Given the description of an element on the screen output the (x, y) to click on. 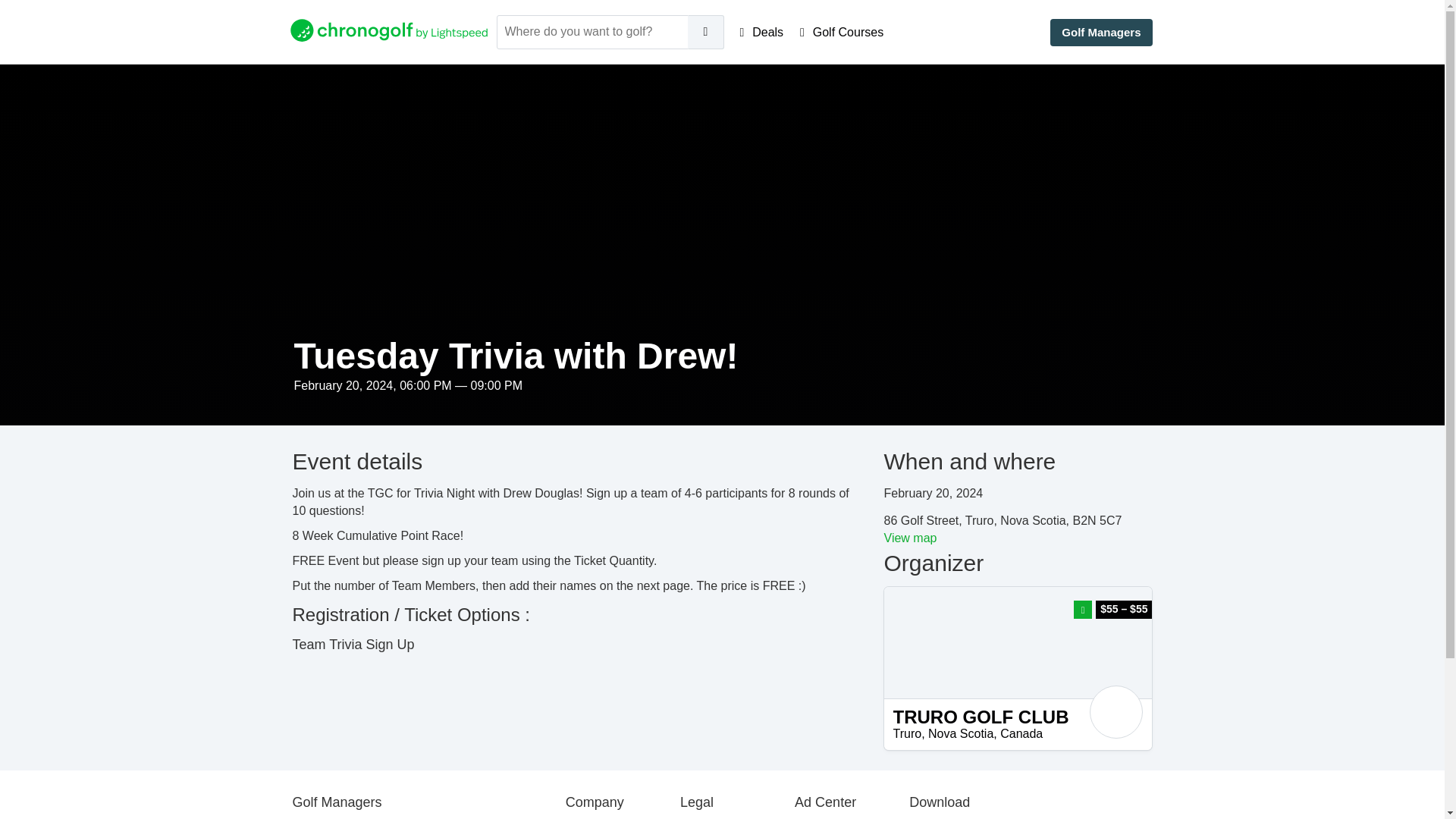
Truro (907, 733)
Golf Courses (841, 32)
Nova Scotia (960, 733)
Deals (761, 32)
TRURO GOLF CLUB (1017, 717)
Golf Managers (1100, 31)
View map (910, 537)
Canada (1021, 733)
